Given the description of an element on the screen output the (x, y) to click on. 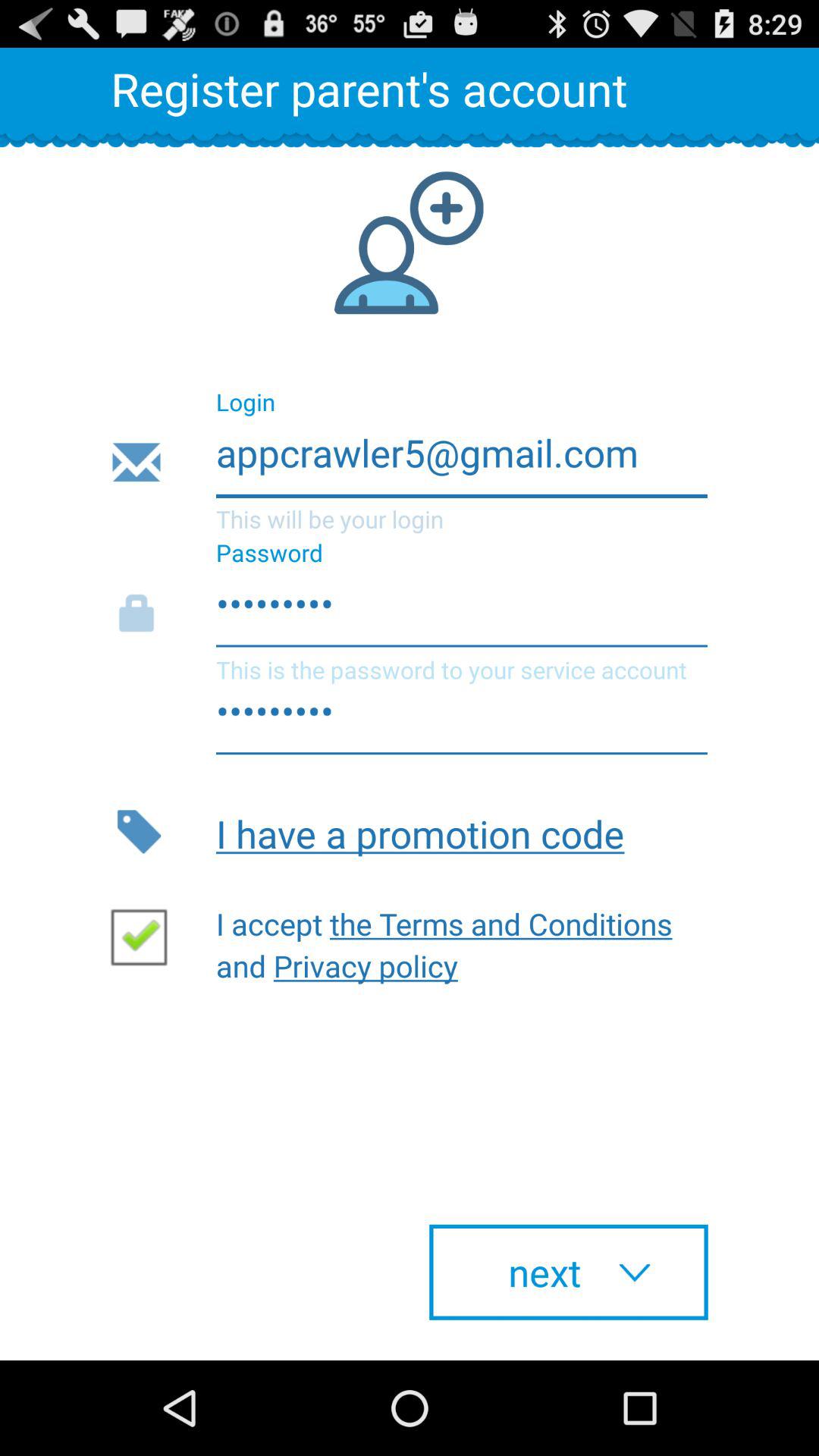
click to accept terms and conditions (145, 936)
